Given the description of an element on the screen output the (x, y) to click on. 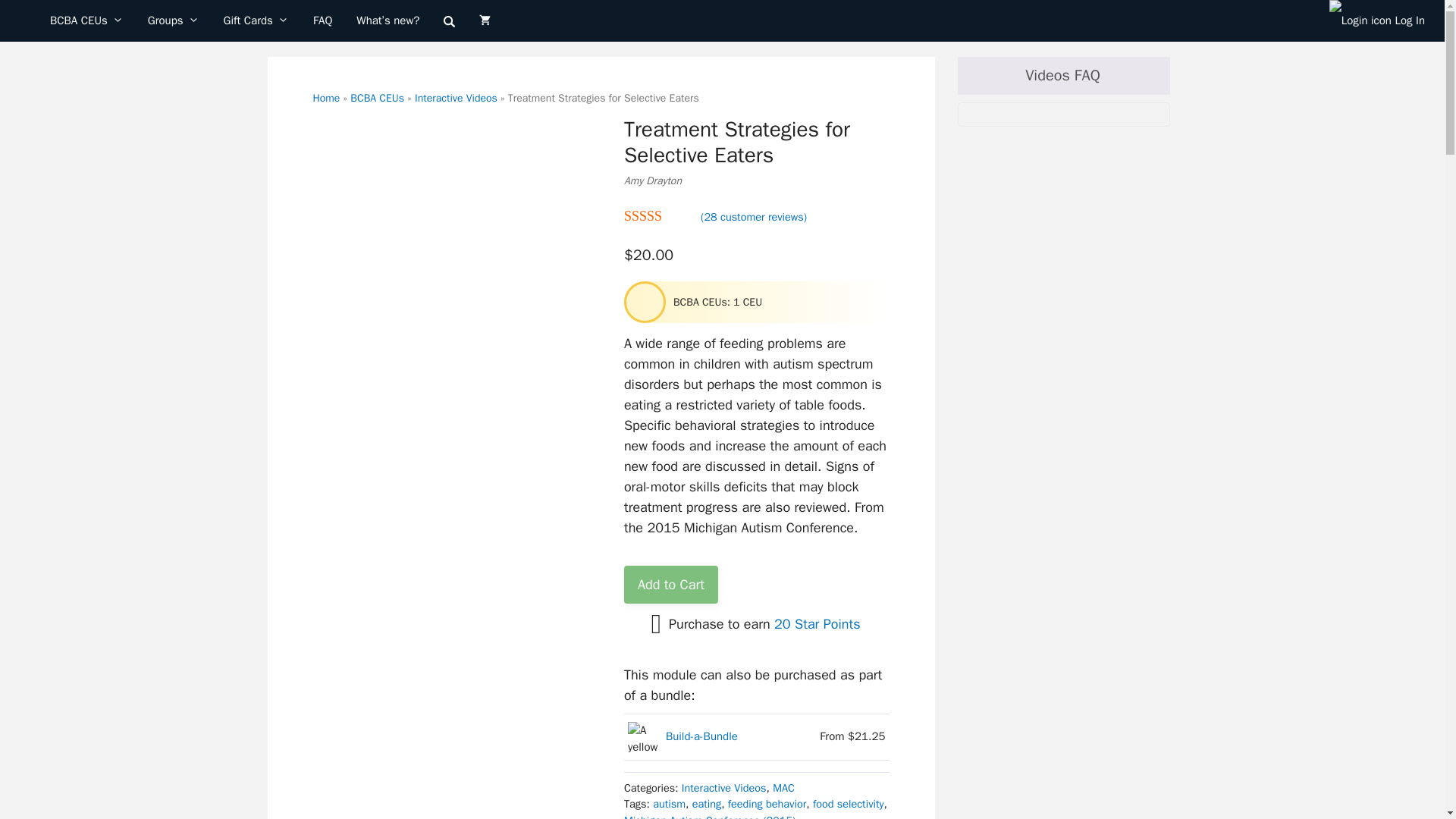
Group Licenses (173, 20)
Groups (173, 20)
BCBA CEUs (86, 20)
Shop for BCBA CEUs (86, 20)
Gift Cards (256, 20)
Frequently Asked Questions (322, 20)
